Given the description of an element on the screen output the (x, y) to click on. 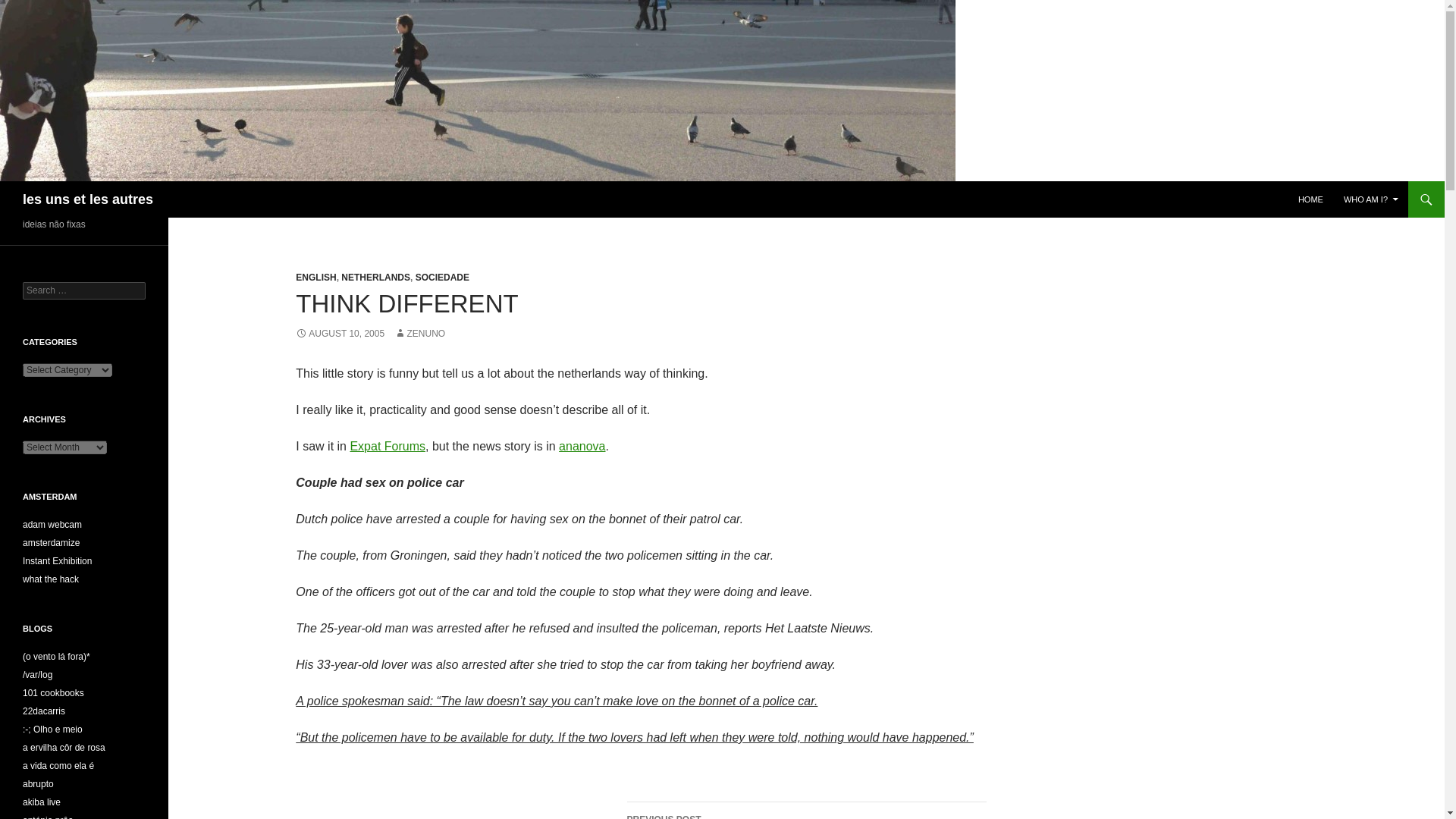
Instant Exhibition (57, 561)
ZENUNO (419, 333)
amsterdamize (805, 810)
Paulo Querido (51, 542)
:-; Olho e meio (56, 656)
Pecus (52, 728)
WHO AM I? (37, 674)
what the hack (1371, 198)
